Given the description of an element on the screen output the (x, y) to click on. 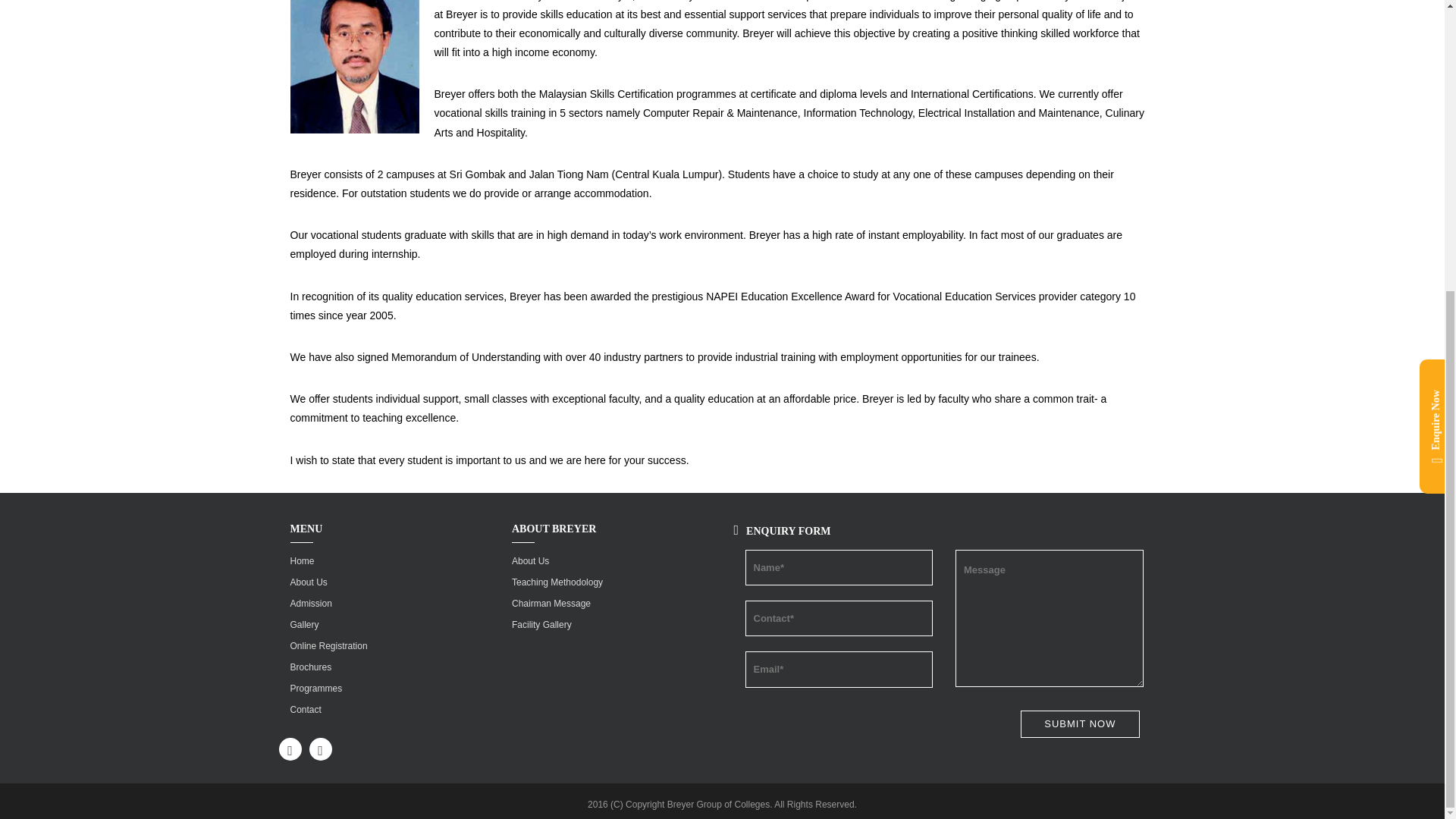
Submit Now (1079, 724)
About Us (307, 582)
Gallery (303, 624)
Admission (310, 603)
Home (301, 561)
Brochures (310, 666)
Programmes (315, 688)
Contact (304, 709)
Online Registration (327, 645)
